Given the description of an element on the screen output the (x, y) to click on. 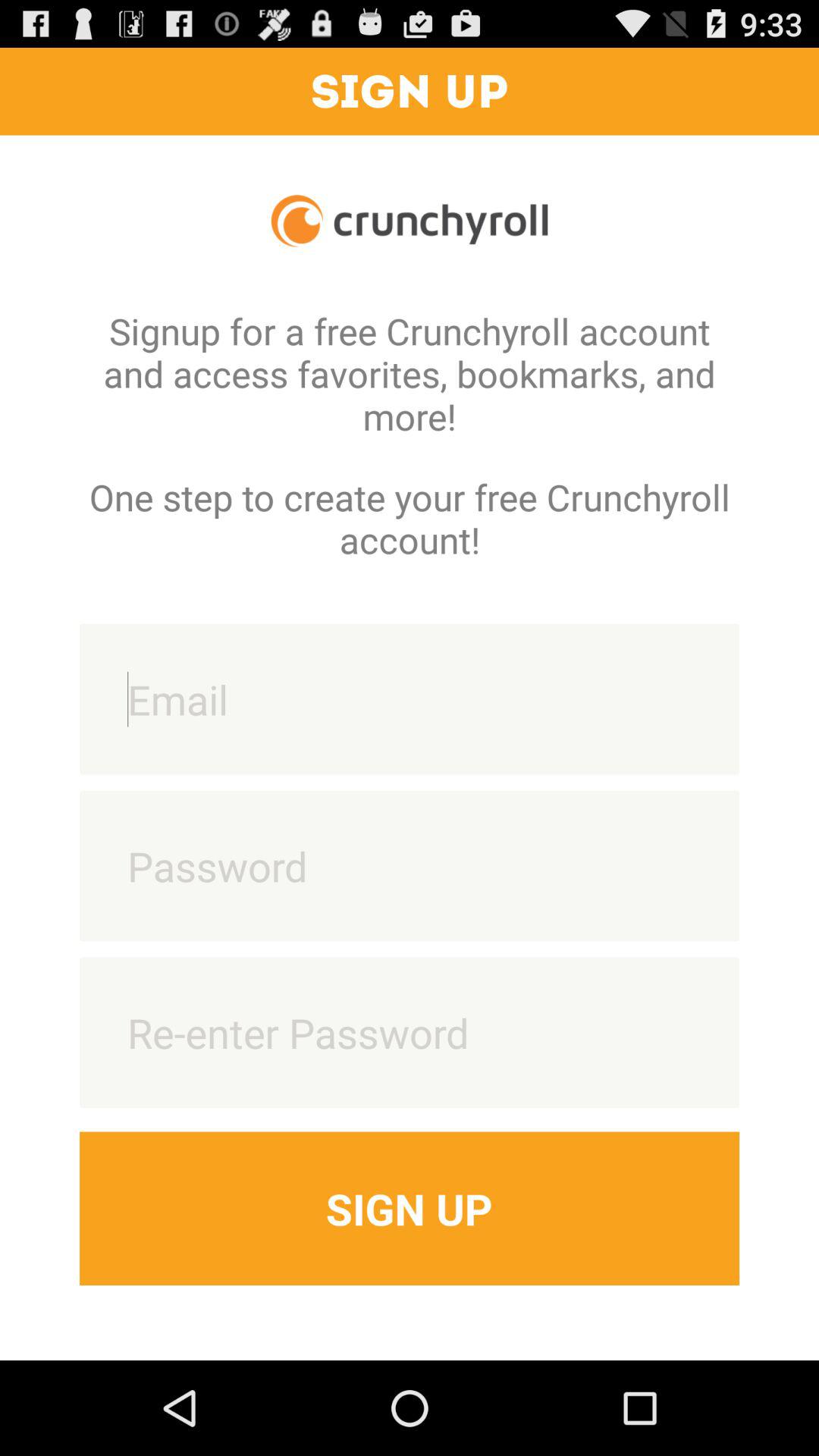
type password (409, 865)
